Given the description of an element on the screen output the (x, y) to click on. 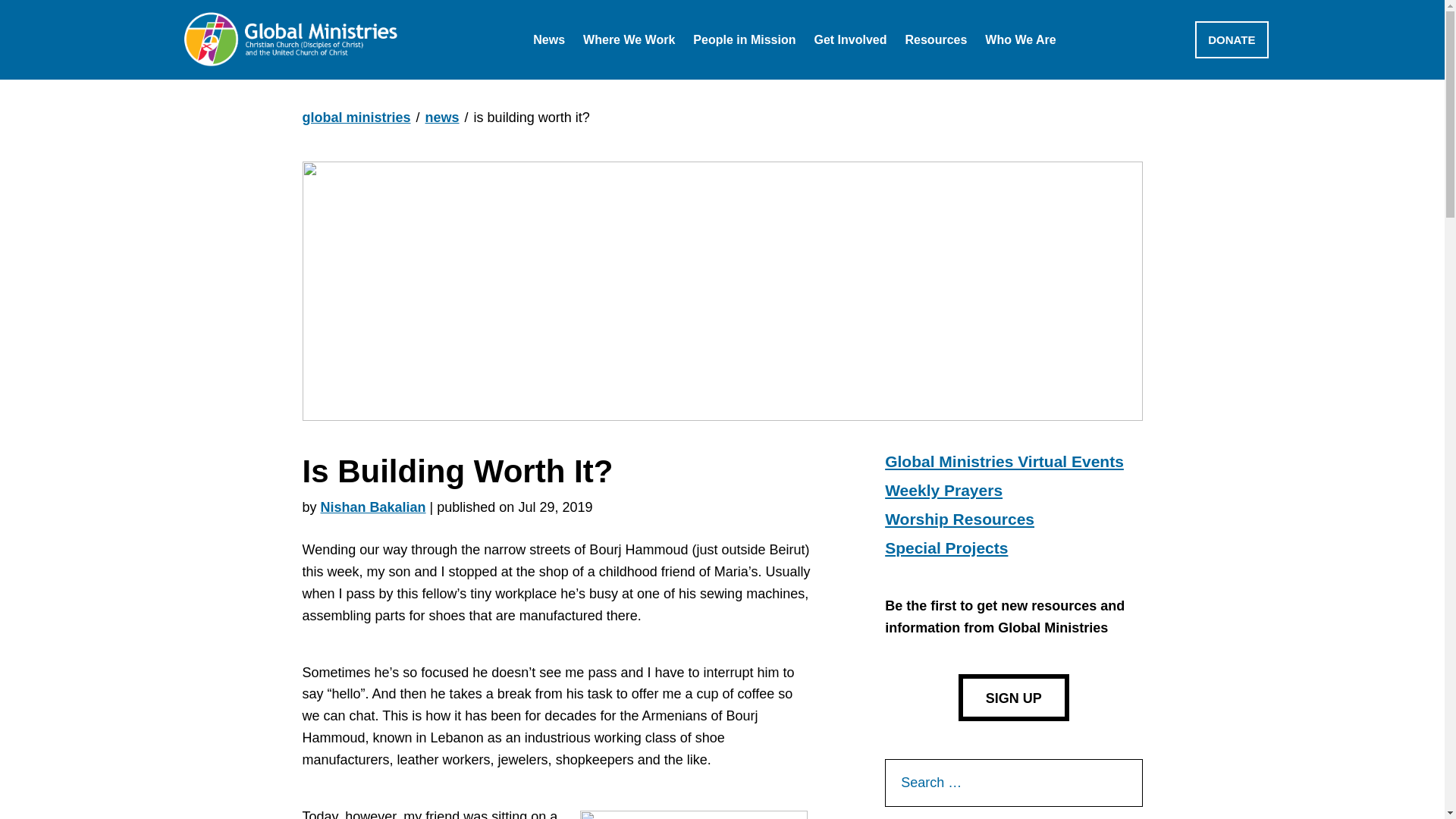
Latin America and the Caribbean (704, 79)
Middle East and Europe (675, 79)
Job Openings with Global Ministries (666, 79)
Get Involved (849, 40)
People-to-People-Pilgrimages (925, 79)
Justice and Advocacy (899, 79)
Global Mission Interns (780, 79)
East Asia and the Pacific (678, 79)
Calendar of Missionary Visits (643, 79)
Africa (617, 79)
